Given the description of an element on the screen output the (x, y) to click on. 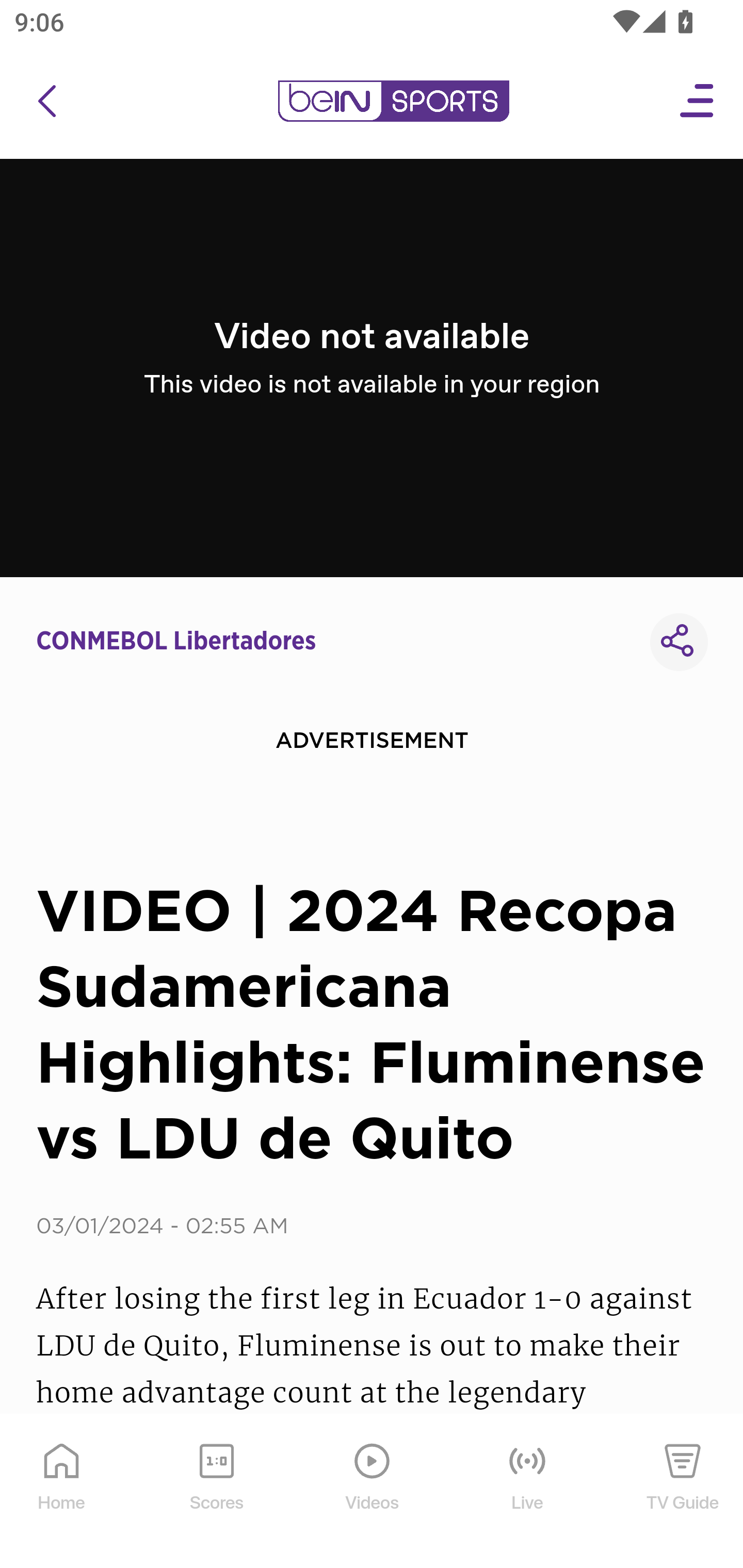
en-us?platform=mobile_android bein logo (392, 101)
icon back (46, 101)
Open Menu Icon (697, 101)
Home Home Icon Home (61, 1491)
Scores Scores Icon Scores (216, 1491)
Videos Videos Icon Videos (372, 1491)
TV Guide TV Guide Icon TV Guide (682, 1491)
